Given the description of an element on the screen output the (x, y) to click on. 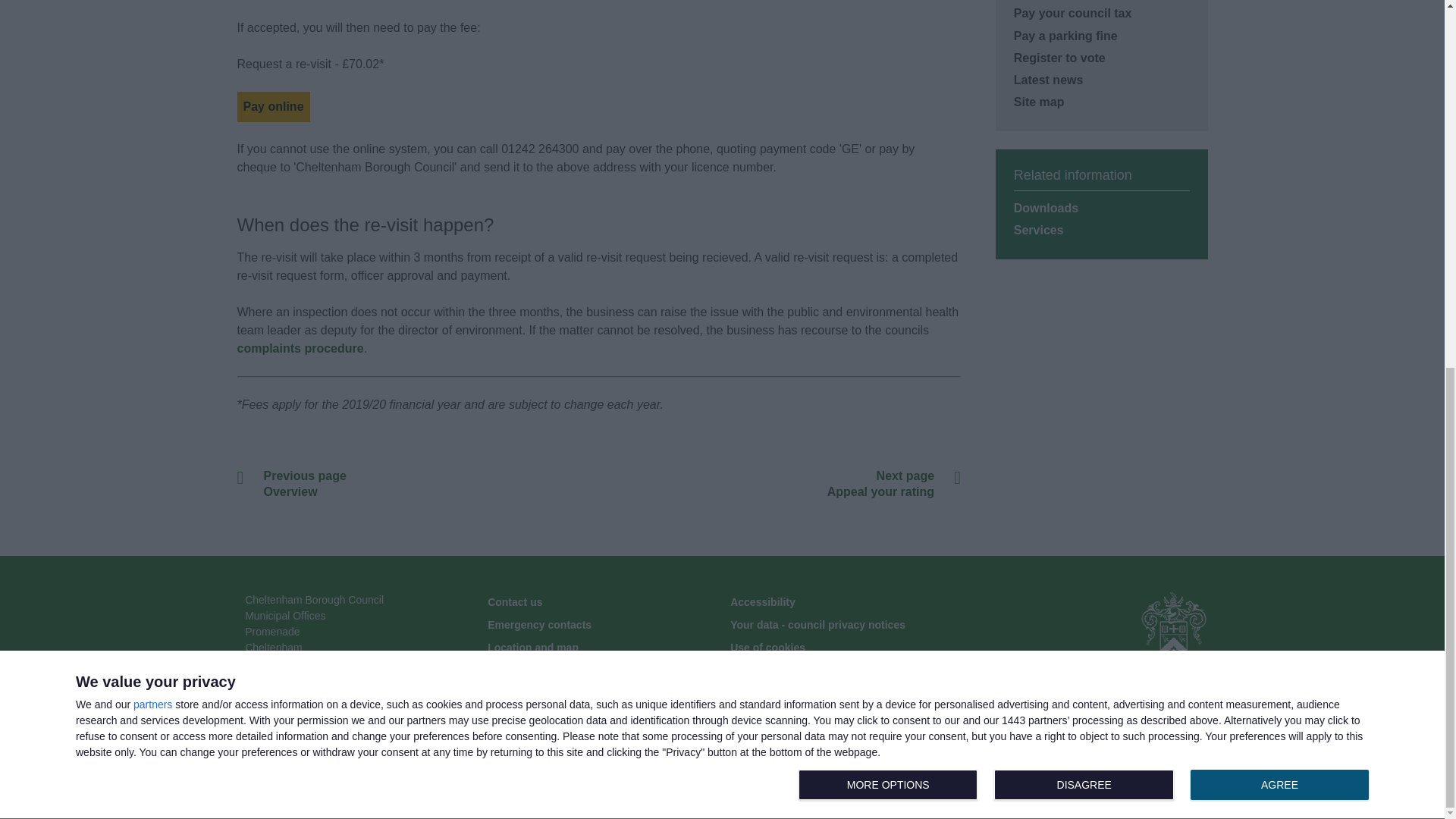
partners (152, 40)
DISAGREE (1086, 121)
AGREE (1083, 120)
Go to the payment system (1279, 120)
MORE OPTIONS (271, 106)
